Given the description of an element on the screen output the (x, y) to click on. 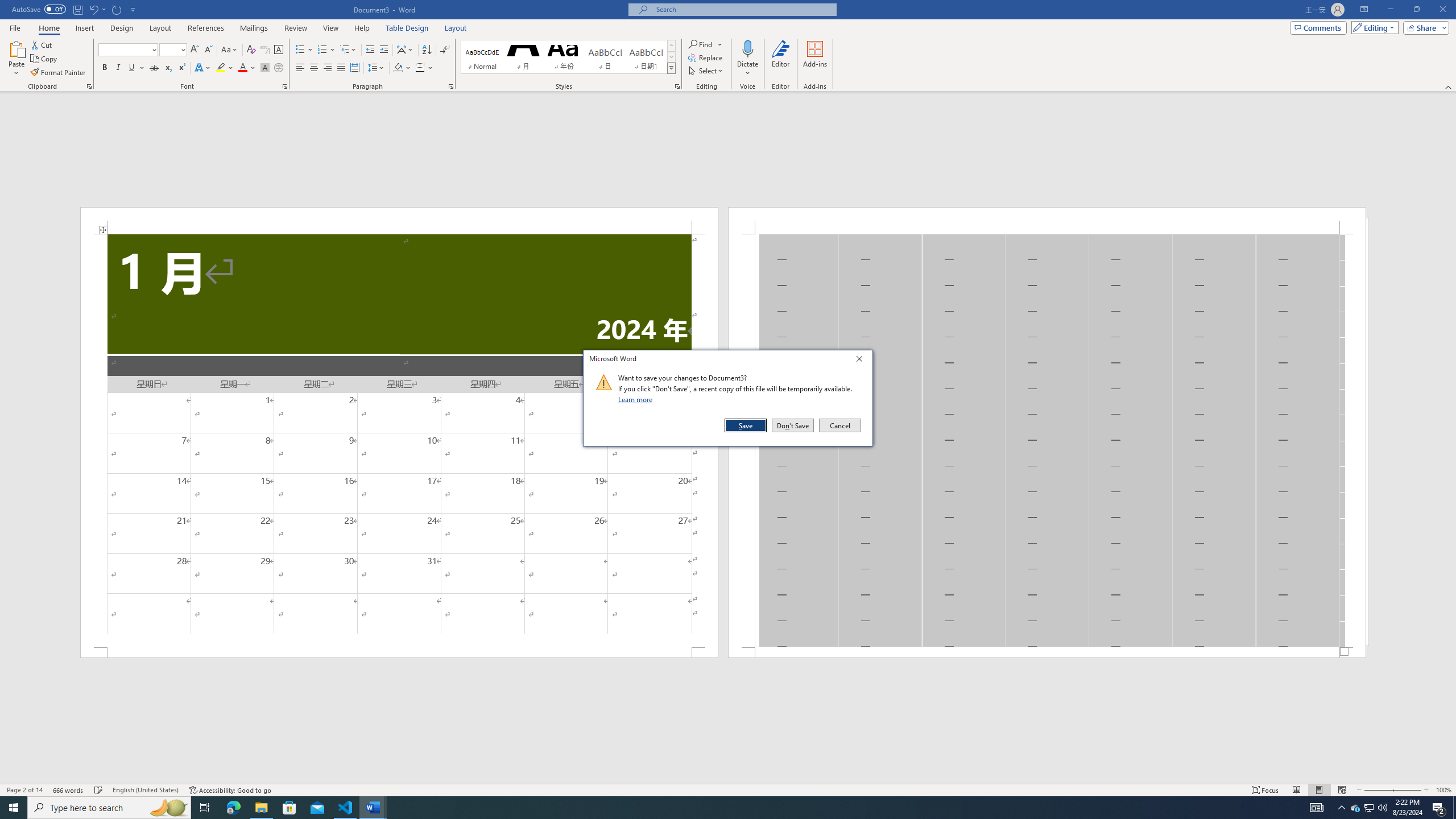
Cancel (839, 425)
